Given the description of an element on the screen output the (x, y) to click on. 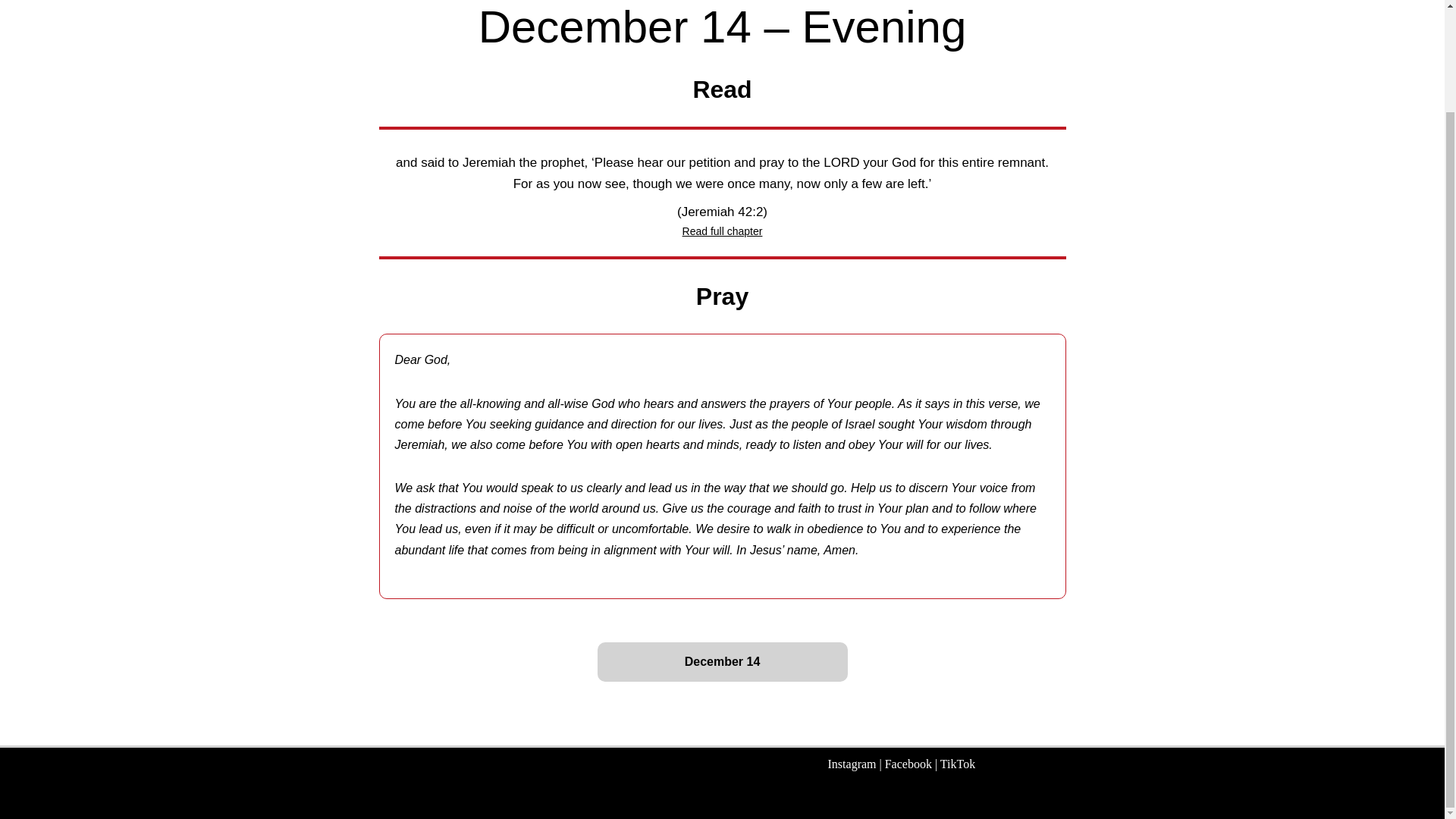
December 14 (721, 661)
Read full chapter (722, 231)
WordPress (410, 799)
Neve (302, 799)
